Given the description of an element on the screen output the (x, y) to click on. 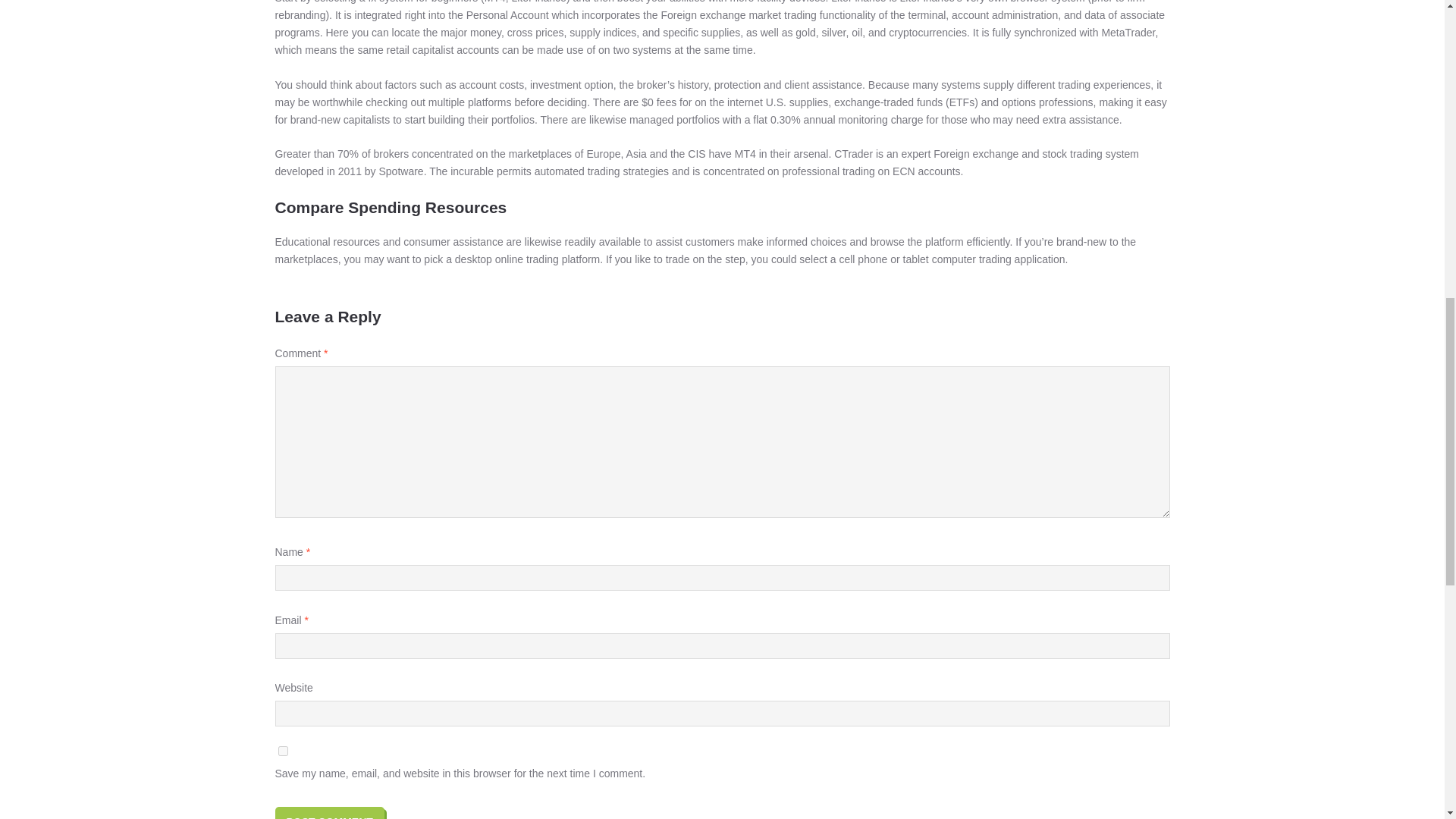
Post Comment (329, 812)
yes (282, 750)
Post Comment (329, 812)
